Given the description of an element on the screen output the (x, y) to click on. 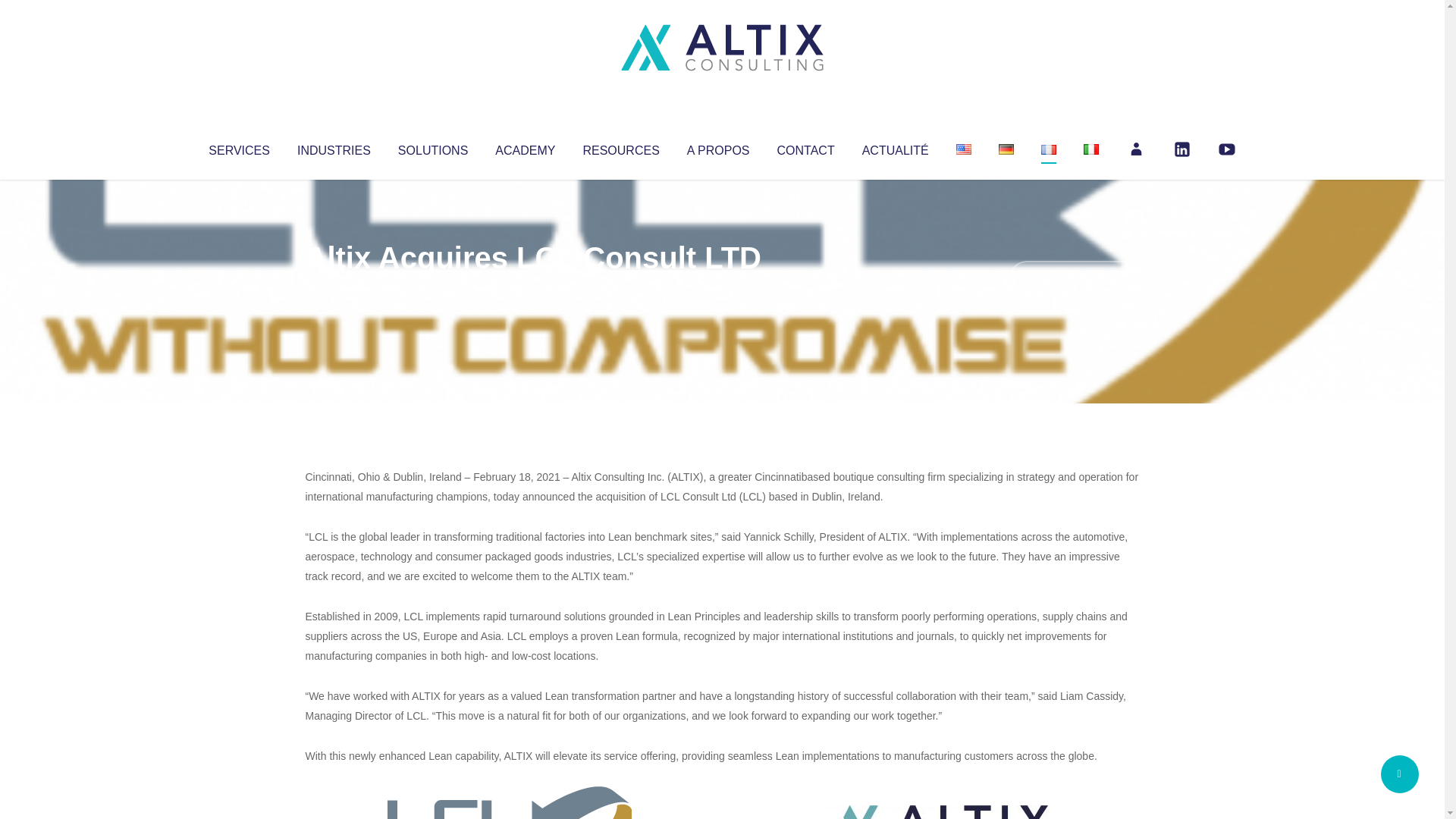
SOLUTIONS (432, 146)
INDUSTRIES (334, 146)
Altix (333, 287)
Articles par Altix (333, 287)
ACADEMY (524, 146)
SERVICES (238, 146)
Uncategorized (530, 287)
RESOURCES (620, 146)
No Comments (1073, 278)
A PROPOS (718, 146)
